Given the description of an element on the screen output the (x, y) to click on. 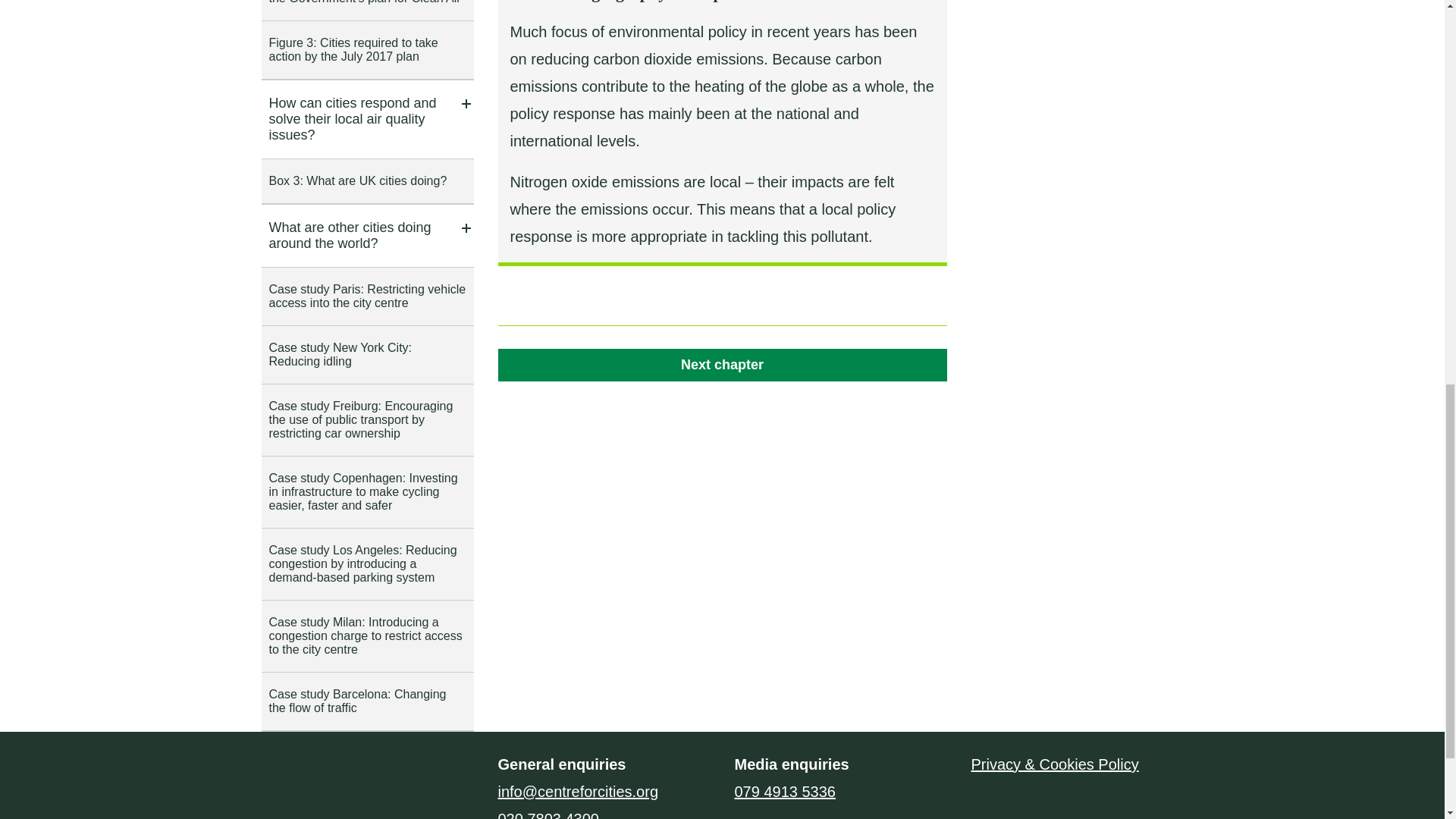
Go to our Twitter profile (272, 771)
Go to our LinkedIn profile (309, 771)
Go to our podcast platform (388, 771)
Go to  (721, 364)
Go to our Youtube channel (348, 771)
